Given the description of an element on the screen output the (x, y) to click on. 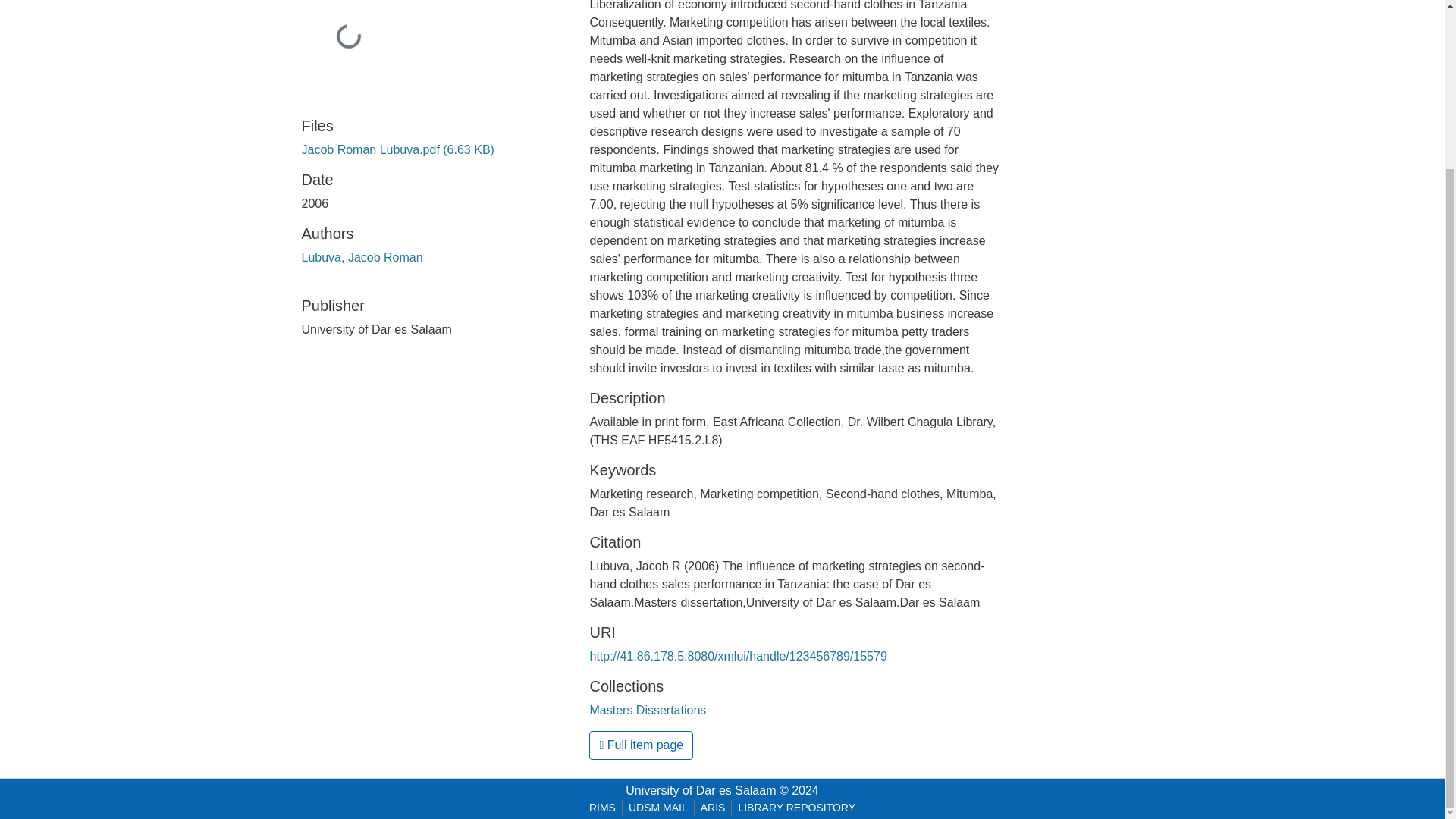
UDSM MAIL (658, 807)
LIBRARY REPOSITORY (796, 807)
ARIS (713, 807)
RIMS (602, 807)
Masters Dissertations (647, 709)
Lubuva, Jacob Roman (362, 256)
Full item page (641, 745)
